Given the description of an element on the screen output the (x, y) to click on. 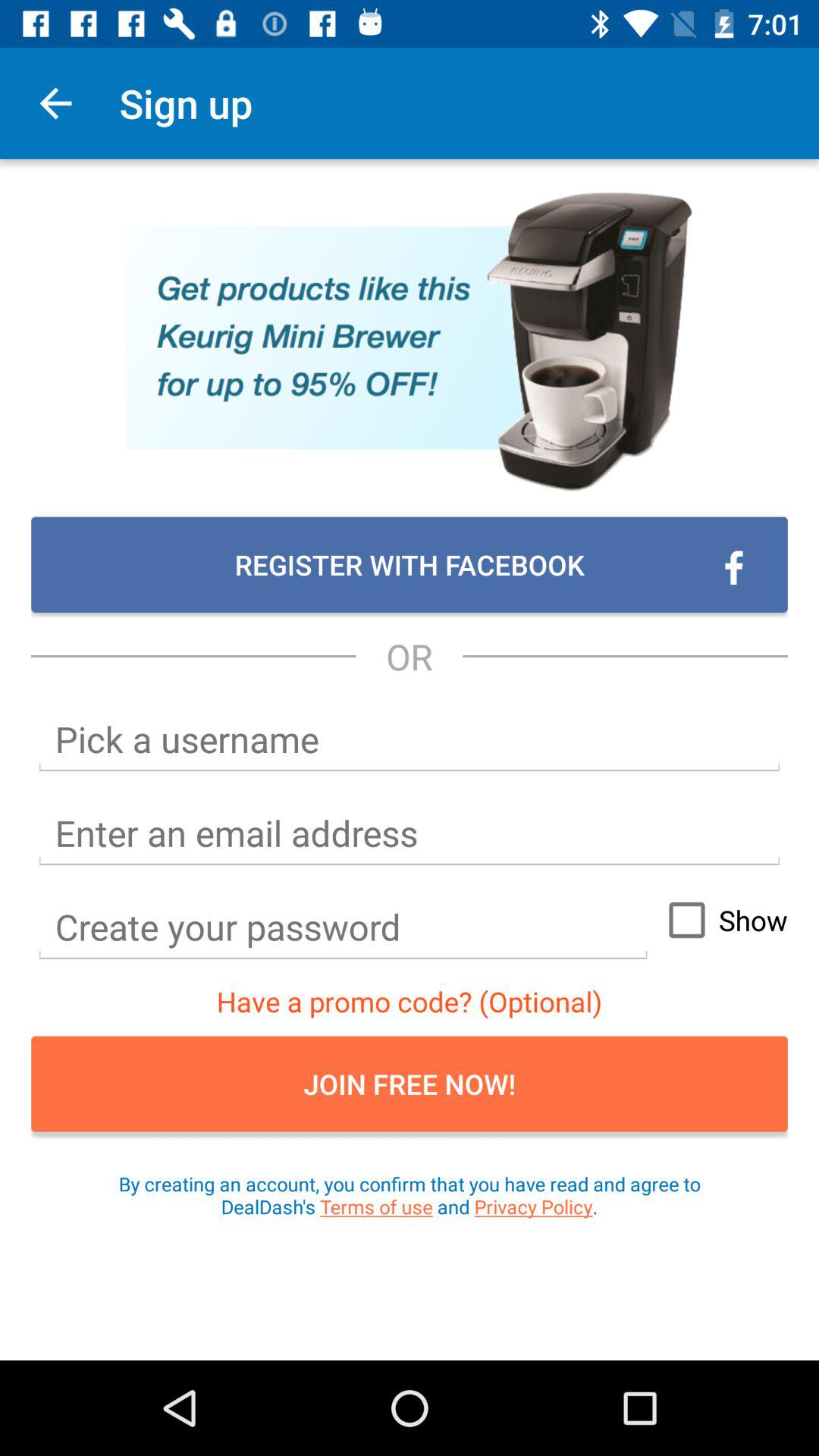
enter password info (343, 927)
